Given the description of an element on the screen output the (x, y) to click on. 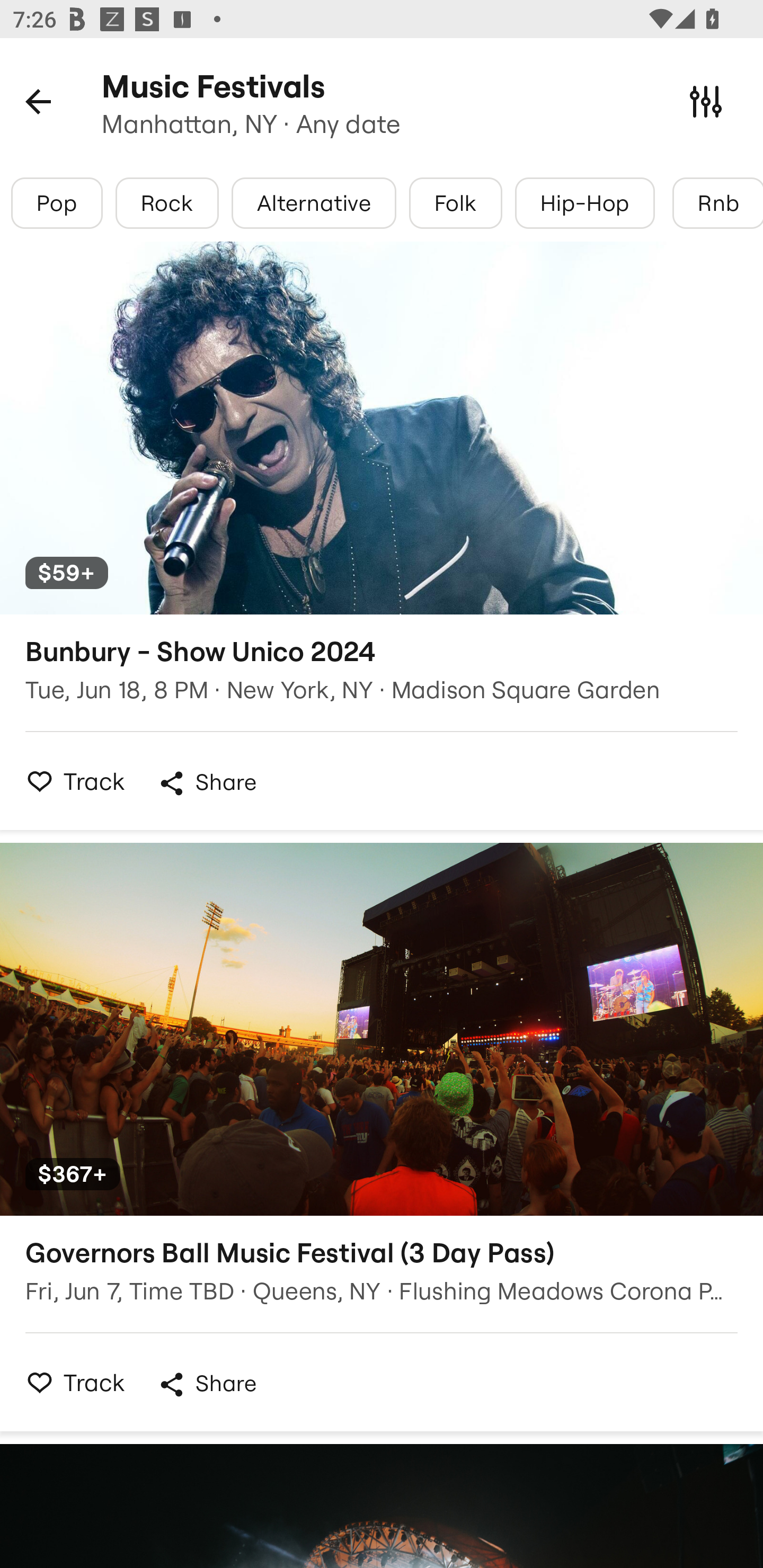
Back (38, 100)
Filters (705, 100)
Pop (57, 202)
Rock (166, 202)
Alternative (313, 202)
Folk (455, 202)
Hip-Hop (584, 202)
Rnb (717, 202)
Track (70, 780)
Share (207, 783)
Track (70, 1381)
Share (207, 1384)
